Given the description of an element on the screen output the (x, y) to click on. 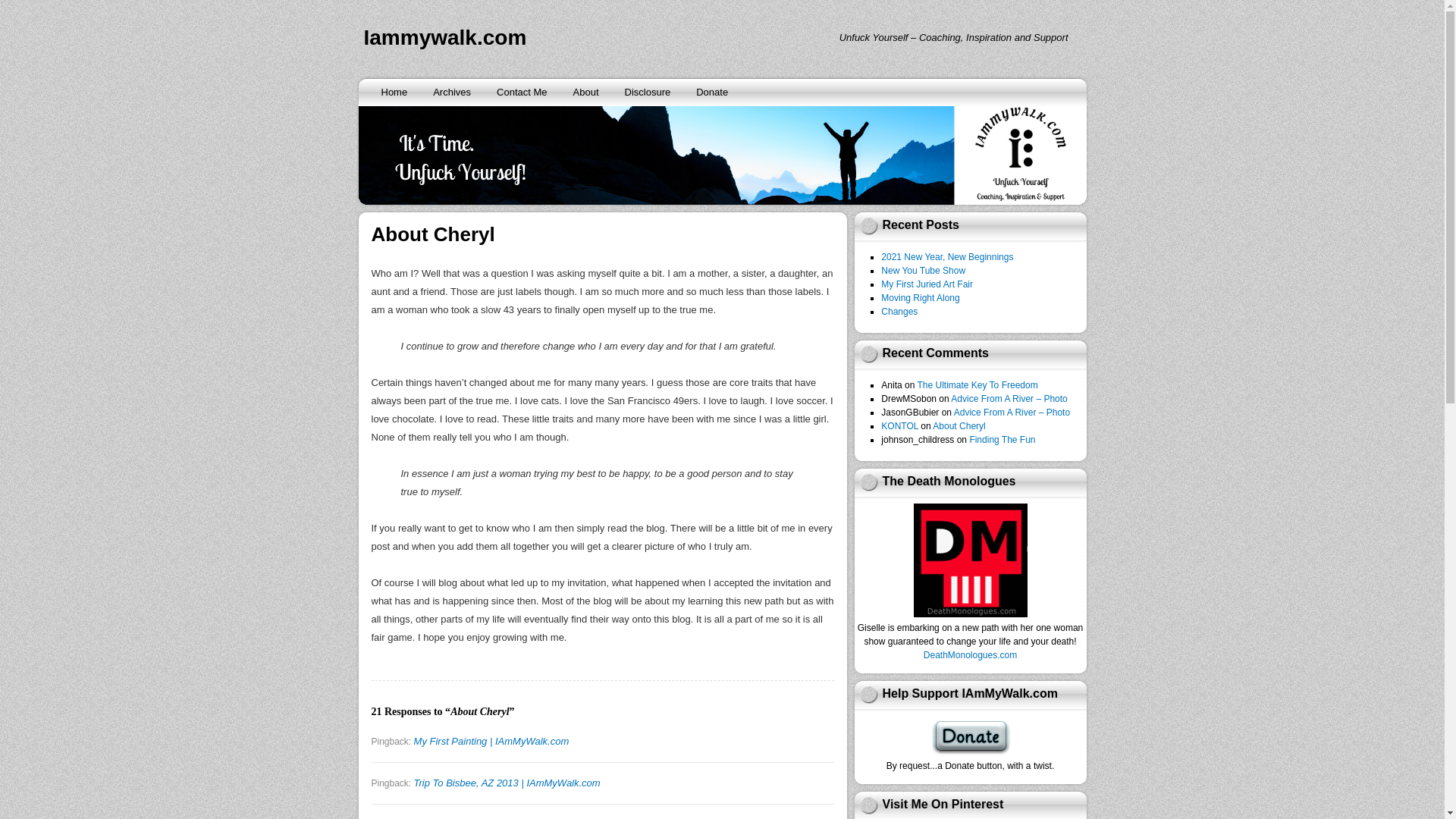
About (585, 92)
Iammywalk.com (445, 37)
Home (394, 92)
The Ultimate Key To Freedom (976, 385)
Iammywalk.com (445, 37)
Finding The Fun (1002, 439)
KONTOL (899, 425)
New You Tube Show (922, 270)
Moving Right Along (919, 297)
DeathMonologues.com (969, 655)
